Given the description of an element on the screen output the (x, y) to click on. 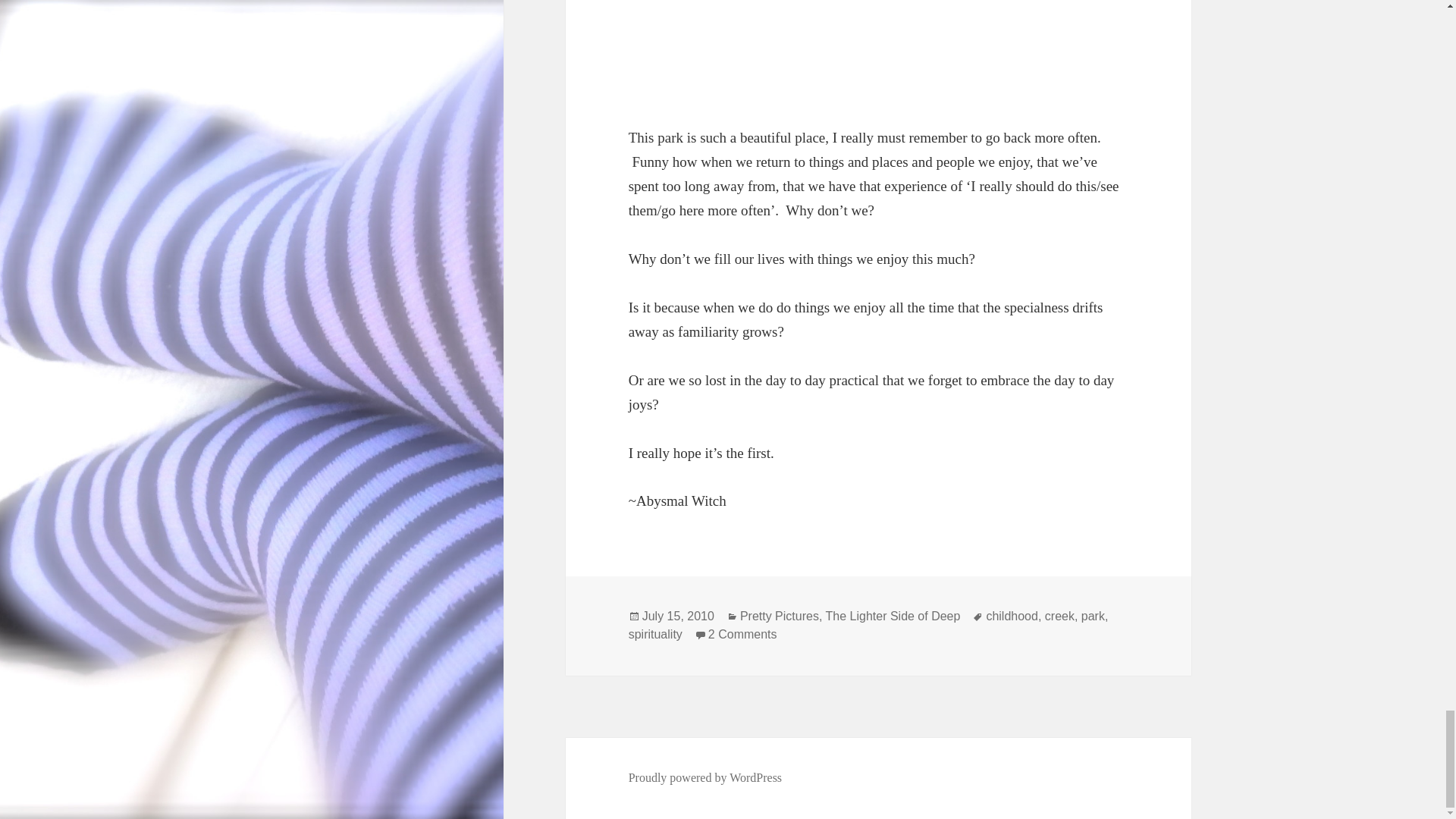
1007 will-willows (878, 50)
